Given the description of an element on the screen output the (x, y) to click on. 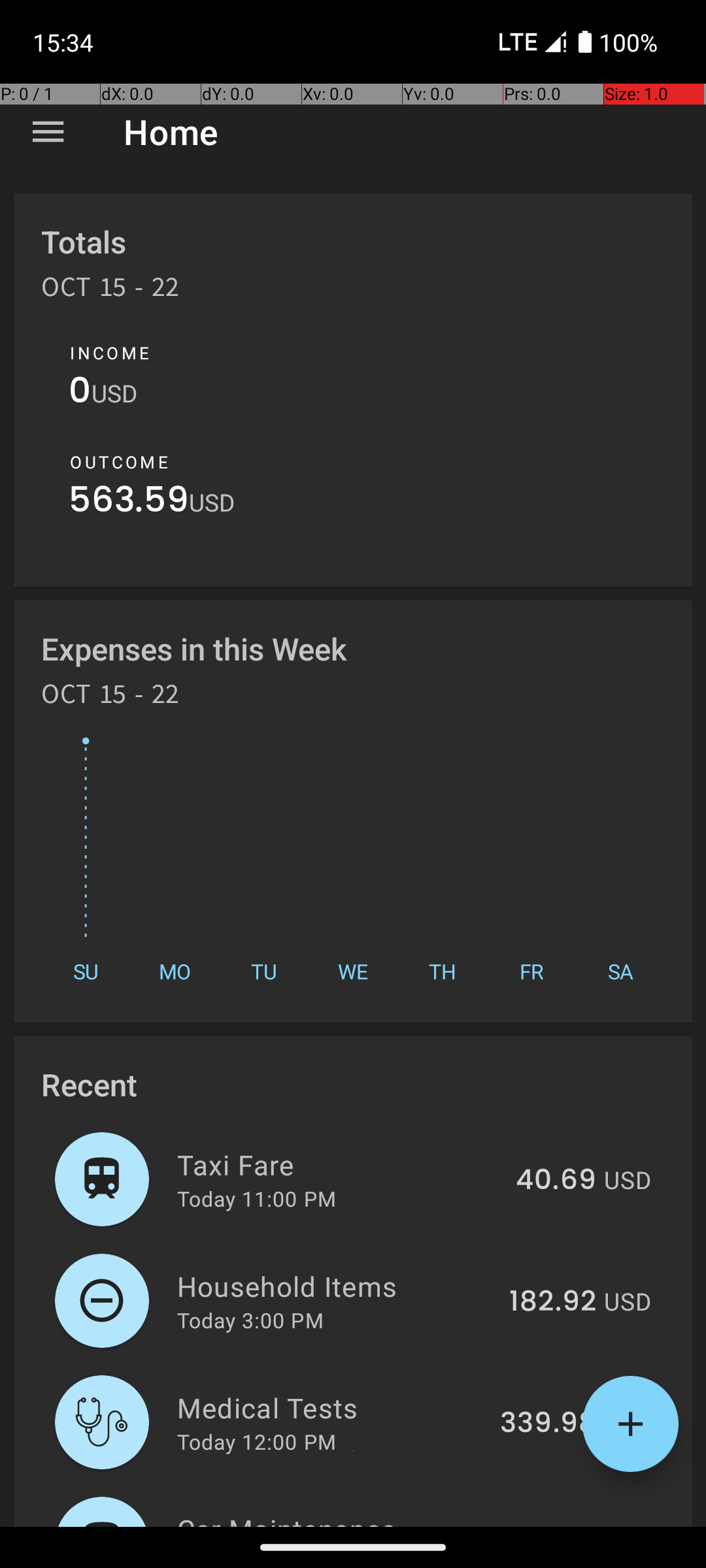
563.59 Element type: android.widget.TextView (128, 502)
Taxi Fare Element type: android.widget.TextView (338, 1164)
40.69 Element type: android.widget.TextView (555, 1180)
Household Items Element type: android.widget.TextView (335, 1285)
Today 3:00 PM Element type: android.widget.TextView (250, 1320)
182.92 Element type: android.widget.TextView (552, 1301)
Medical Tests Element type: android.widget.TextView (330, 1407)
Today 12:00 PM Element type: android.widget.TextView (256, 1441)
339.98 Element type: android.widget.TextView (547, 1423)
Car Maintenance Element type: android.widget.TextView (335, 1518)
125.63 Element type: android.widget.TextView (551, 1524)
